Given the description of an element on the screen output the (x, y) to click on. 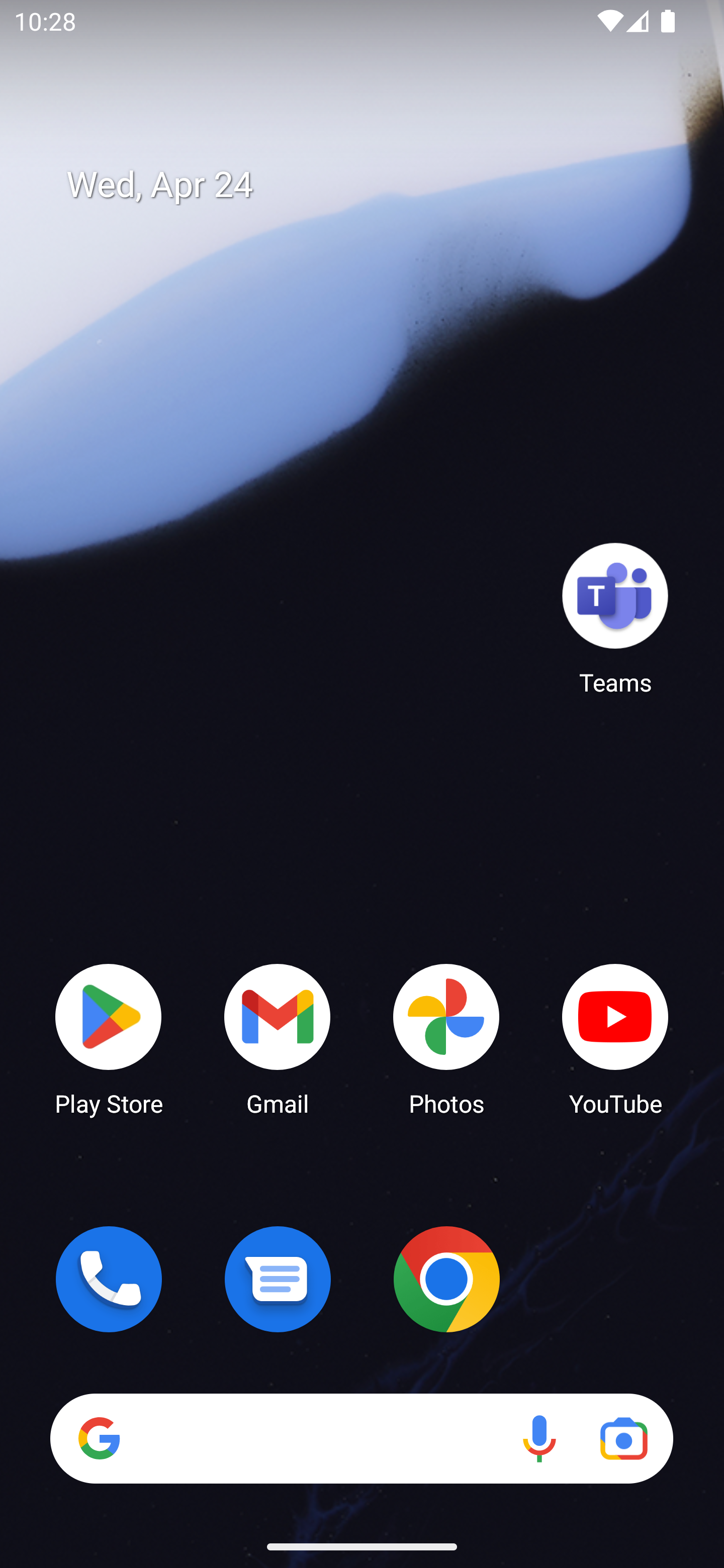
Wed, Apr 24 (375, 184)
Teams (615, 617)
Play Store (108, 1038)
Gmail (277, 1038)
Photos (445, 1038)
YouTube (615, 1038)
Phone (108, 1279)
Messages (277, 1279)
Chrome (446, 1279)
Search Voice search Google Lens (361, 1438)
Voice search (539, 1438)
Google Lens (623, 1438)
